Given the description of an element on the screen output the (x, y) to click on. 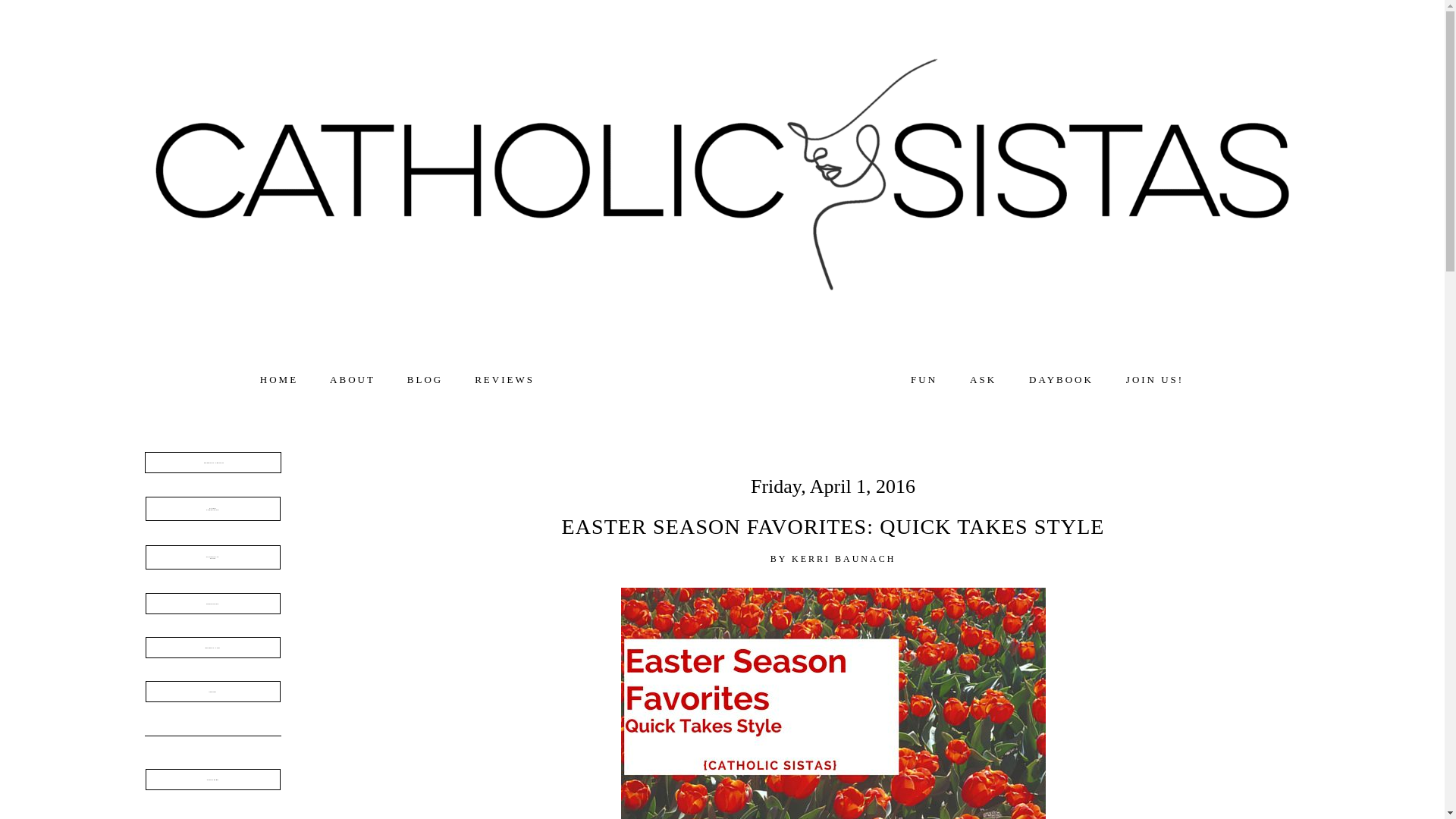
ABOUT (352, 378)
REVIEWS (504, 378)
SUBSCRIBE (212, 779)
JOIN US! (1154, 378)
KERRI BAUNACH (212, 508)
HOME (843, 558)
DOMESTIC CHURCH (279, 378)
SERIES (212, 462)
